Given the description of an element on the screen output the (x, y) to click on. 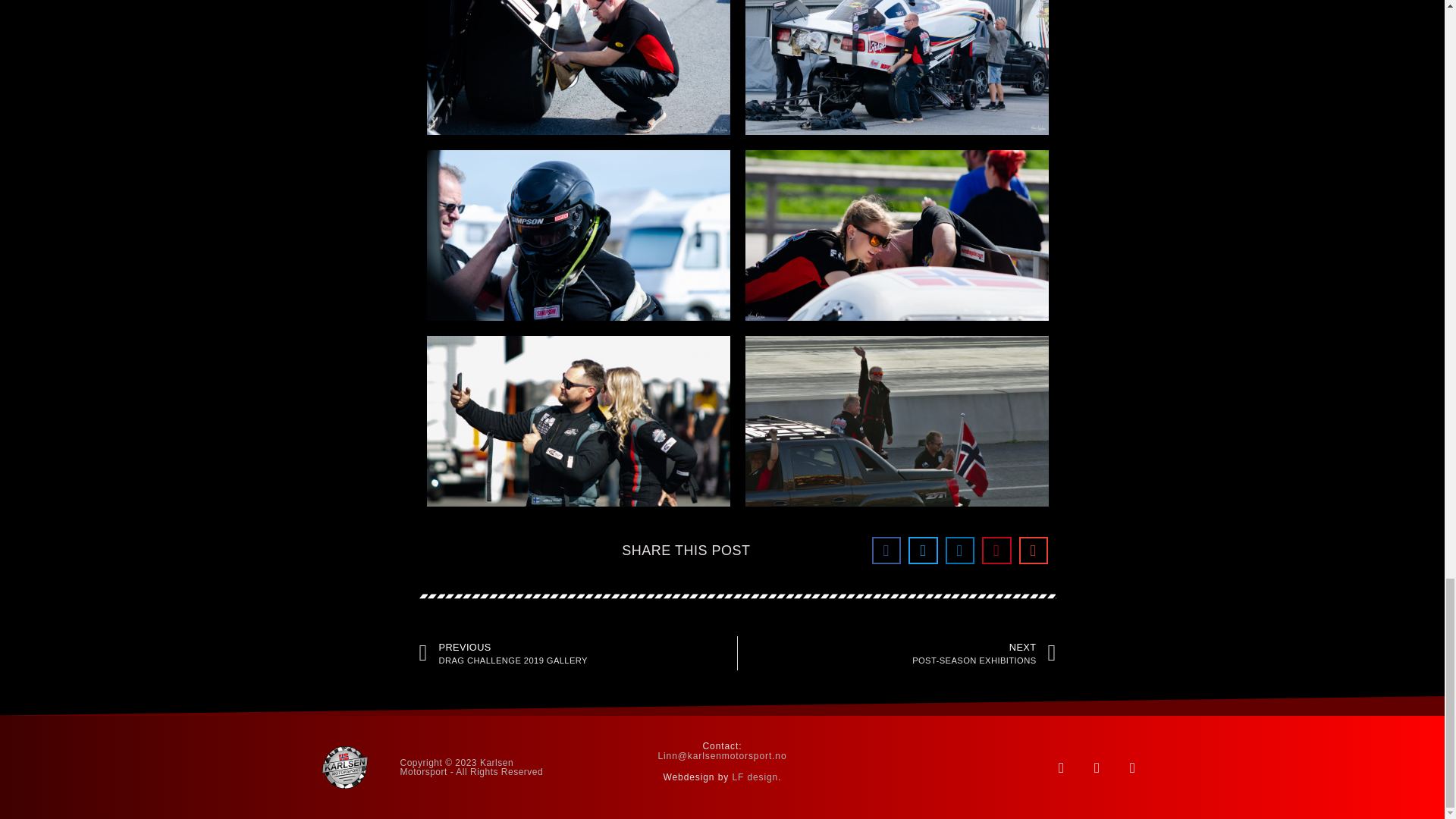
LF design (754, 777)
KarlsenMotorsport (344, 767)
